Given the description of an element on the screen output the (x, y) to click on. 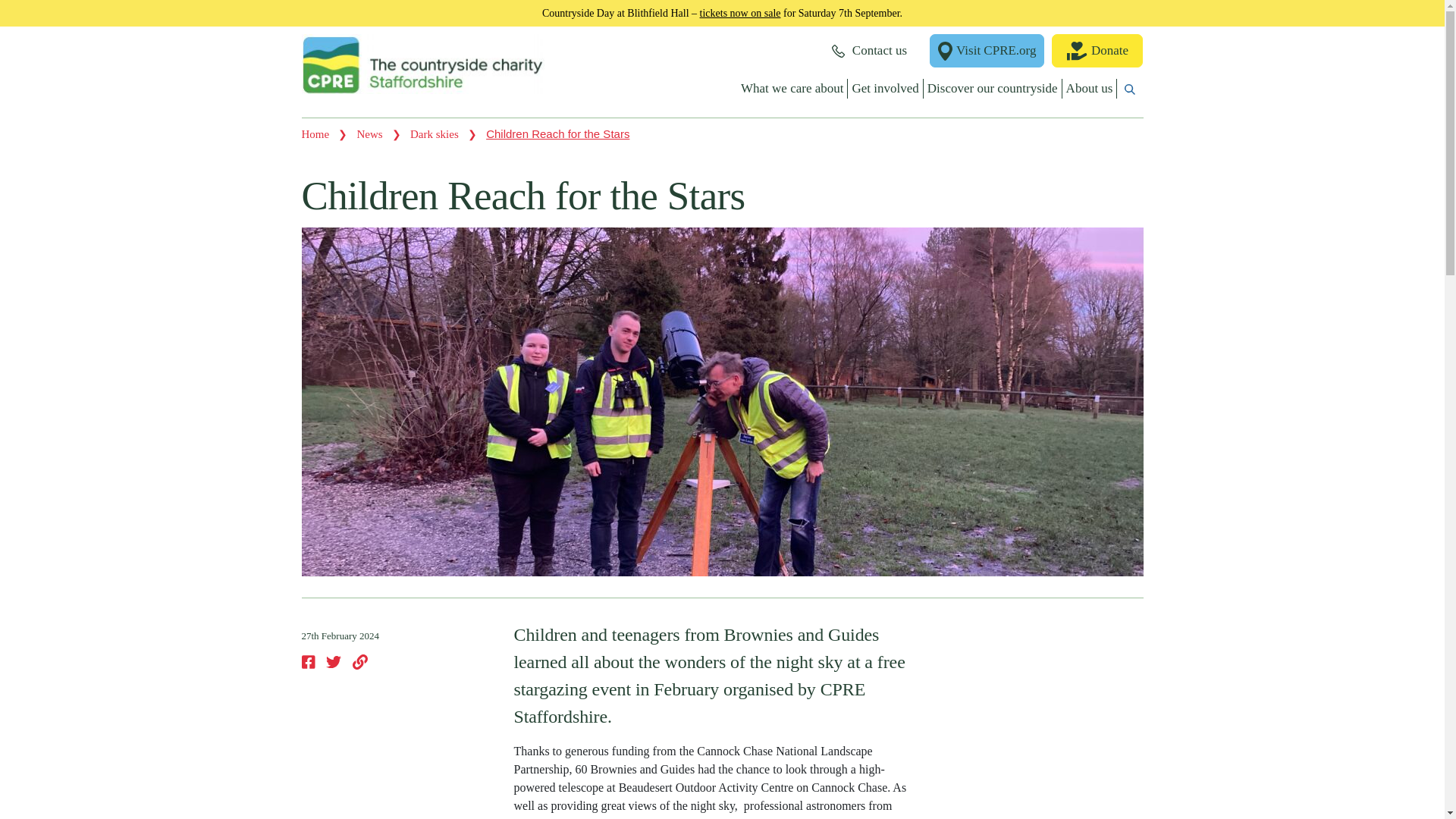
What we care about (791, 88)
Search (949, 123)
Contact us (869, 50)
Discover our countryside (992, 88)
tickets now on sale (740, 12)
Visit CPRE.org (986, 50)
Get involved (885, 88)
About us (1090, 88)
Donate (1096, 50)
